Given the description of an element on the screen output the (x, y) to click on. 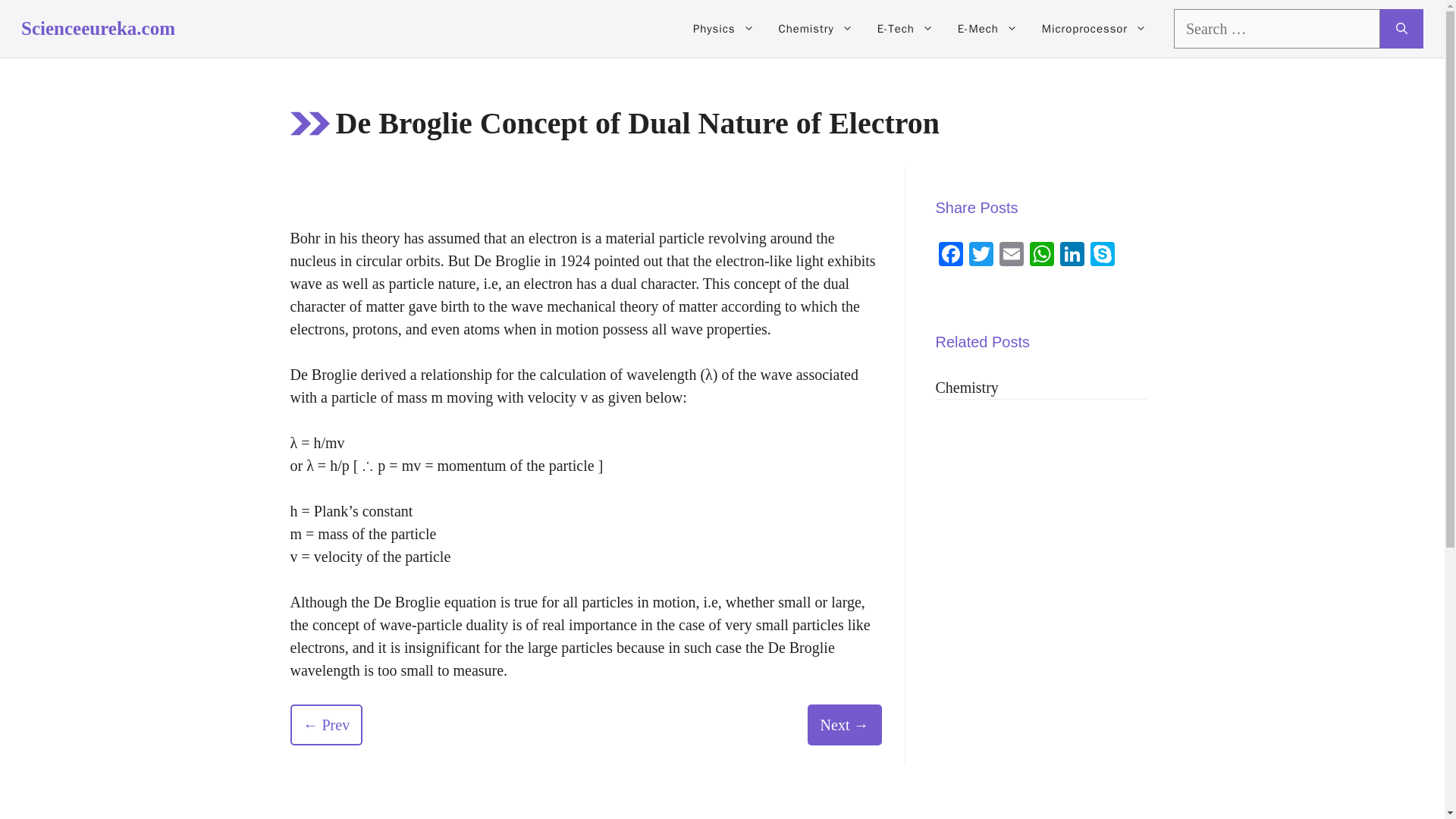
Search for: (1276, 28)
WhatsApp (1041, 255)
Skype (1102, 255)
LinkedIn (1072, 255)
E-Mech (986, 28)
Email (1010, 255)
Physics (723, 28)
Microprocessor (1093, 28)
Facebook (951, 255)
Chemistry (815, 28)
